Given the description of an element on the screen output the (x, y) to click on. 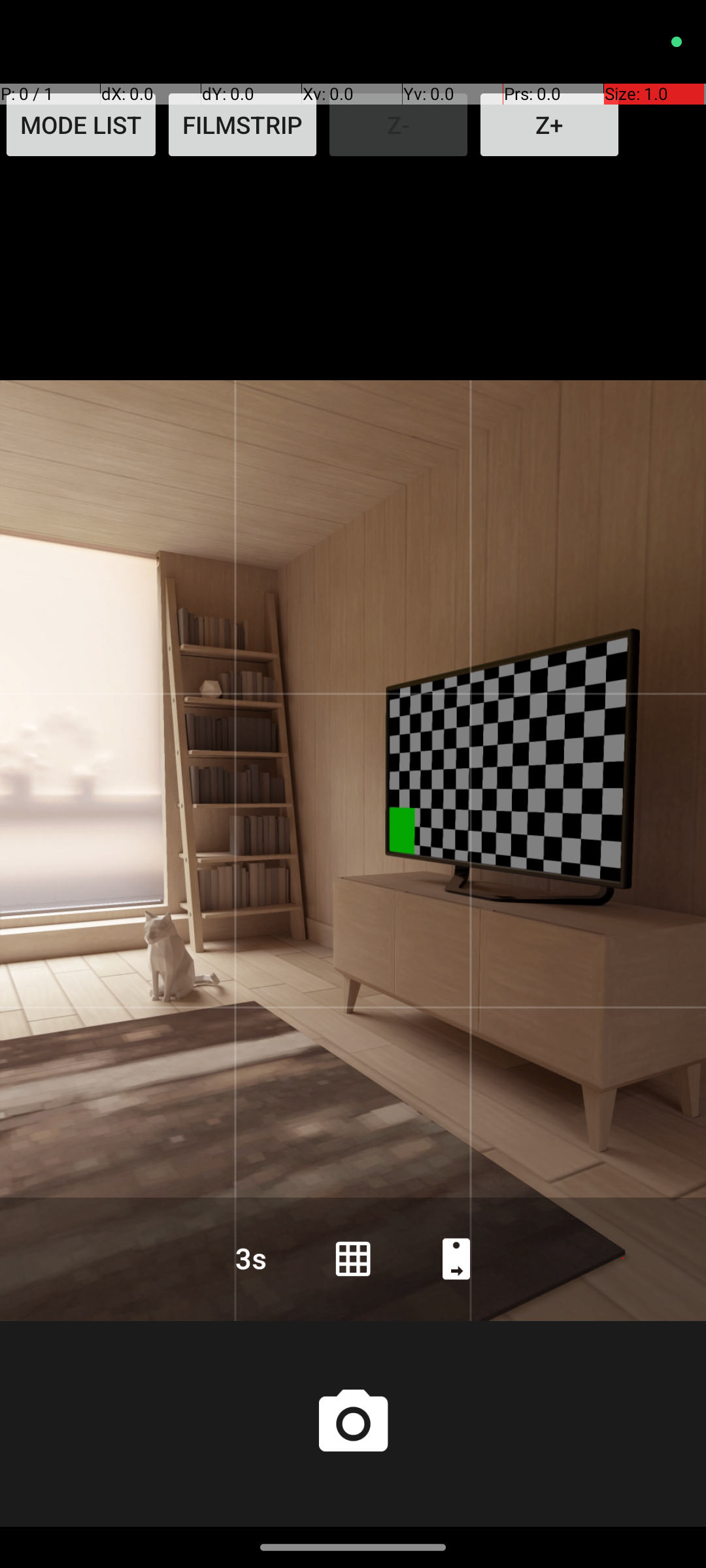
Countdown timer duration is set to 3 seconds Element type: android.widget.ImageButton (249, 1258)
Grid lines on Element type: android.widget.ImageButton (352, 1258)
